Given the description of an element on the screen output the (x, y) to click on. 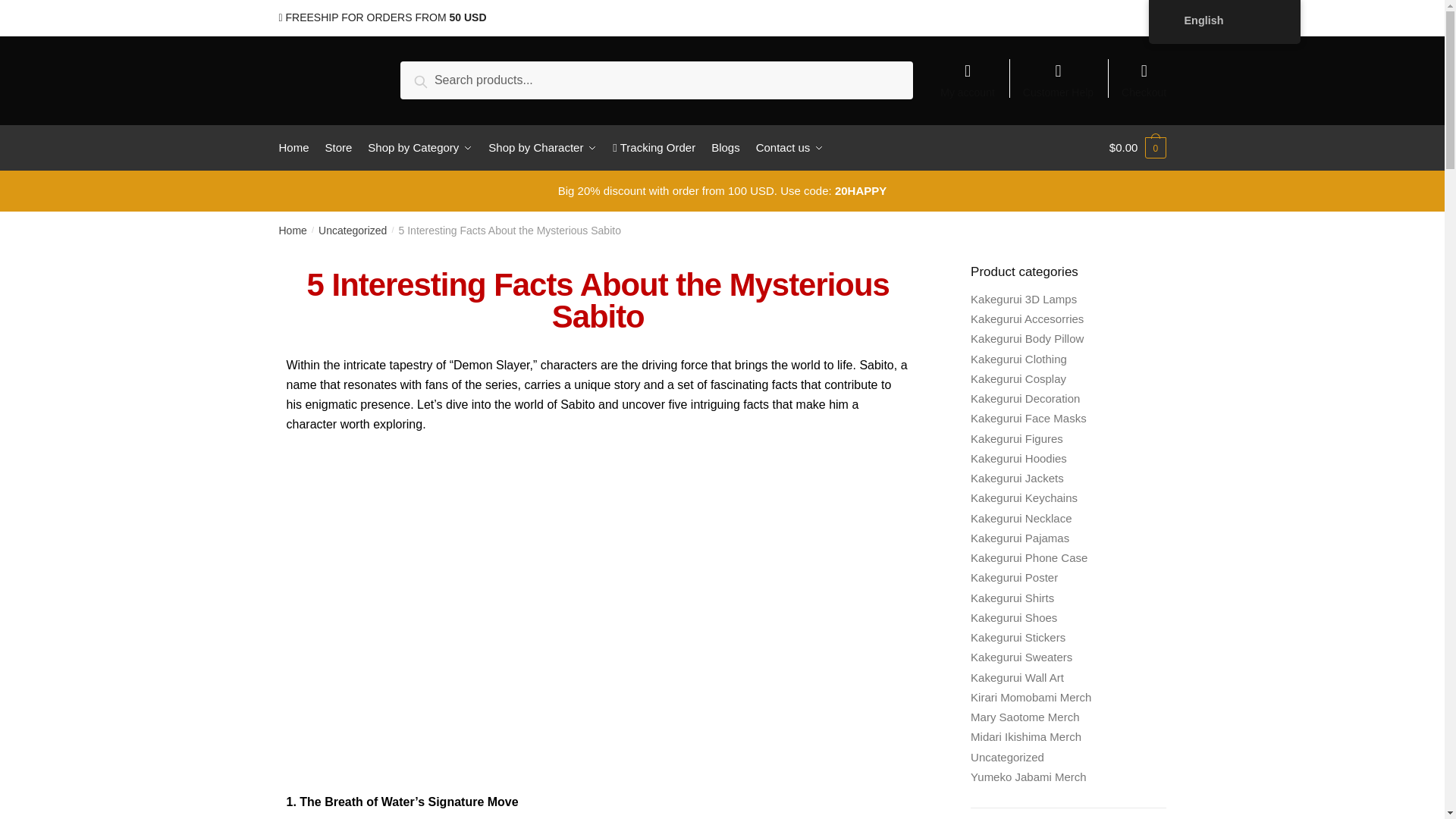
Customer Help (1058, 73)
Shop by Character (543, 147)
English (1172, 20)
Checkout (1144, 73)
Shop by Category (420, 147)
Store (338, 147)
View your shopping cart (1137, 147)
My account (967, 73)
Search (438, 78)
